Given the description of an element on the screen output the (x, y) to click on. 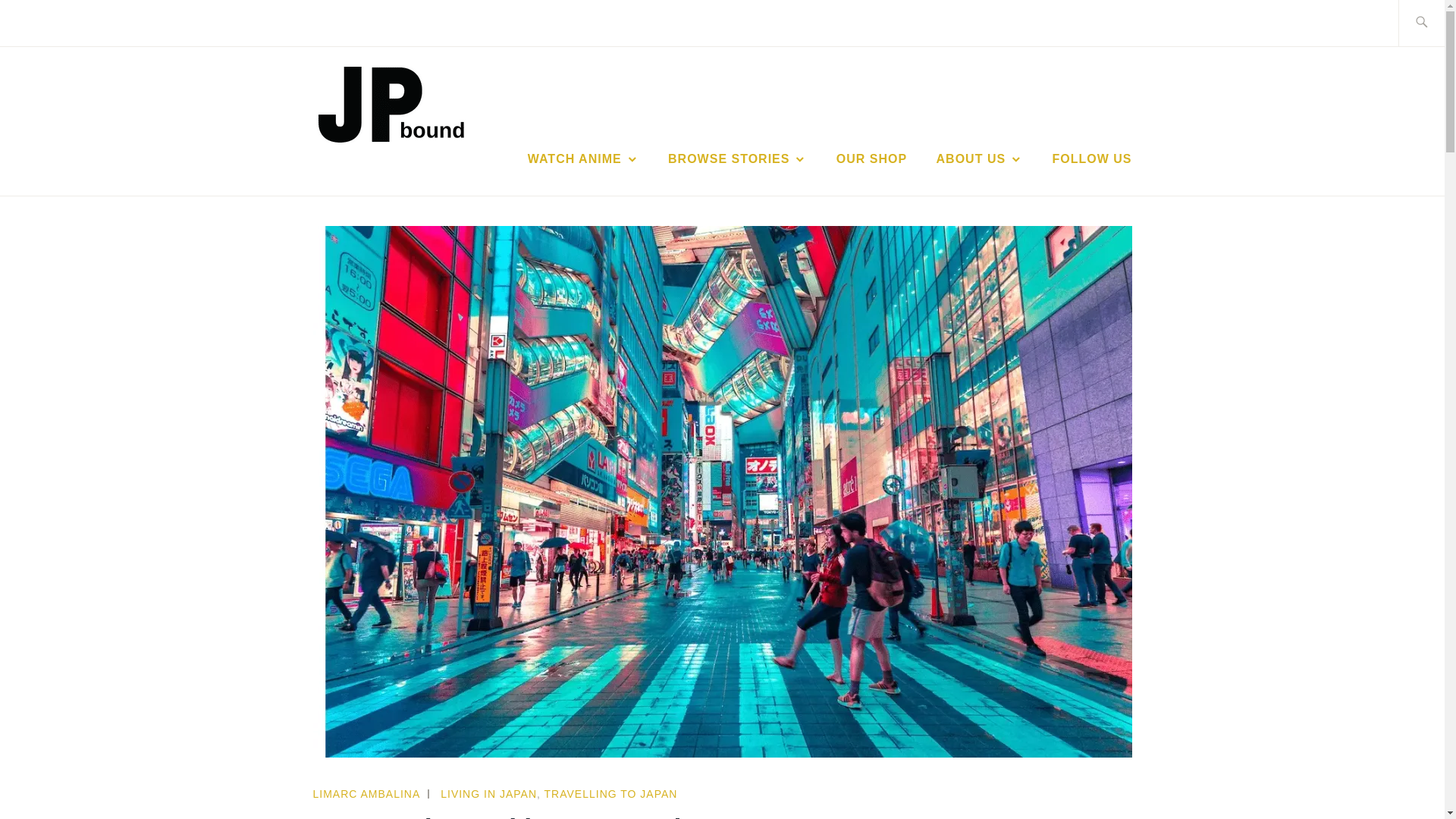
TRAVELLING TO JAPAN (611, 793)
FOLLOW US (1092, 159)
Search (47, 22)
BROWSE STORIES (737, 159)
LIVING IN JAPAN (489, 793)
WATCH ANIME (583, 159)
OUR SHOP (871, 159)
LIMARC AMBALINA (366, 793)
ABOUT US (979, 159)
